Given the description of an element on the screen output the (x, y) to click on. 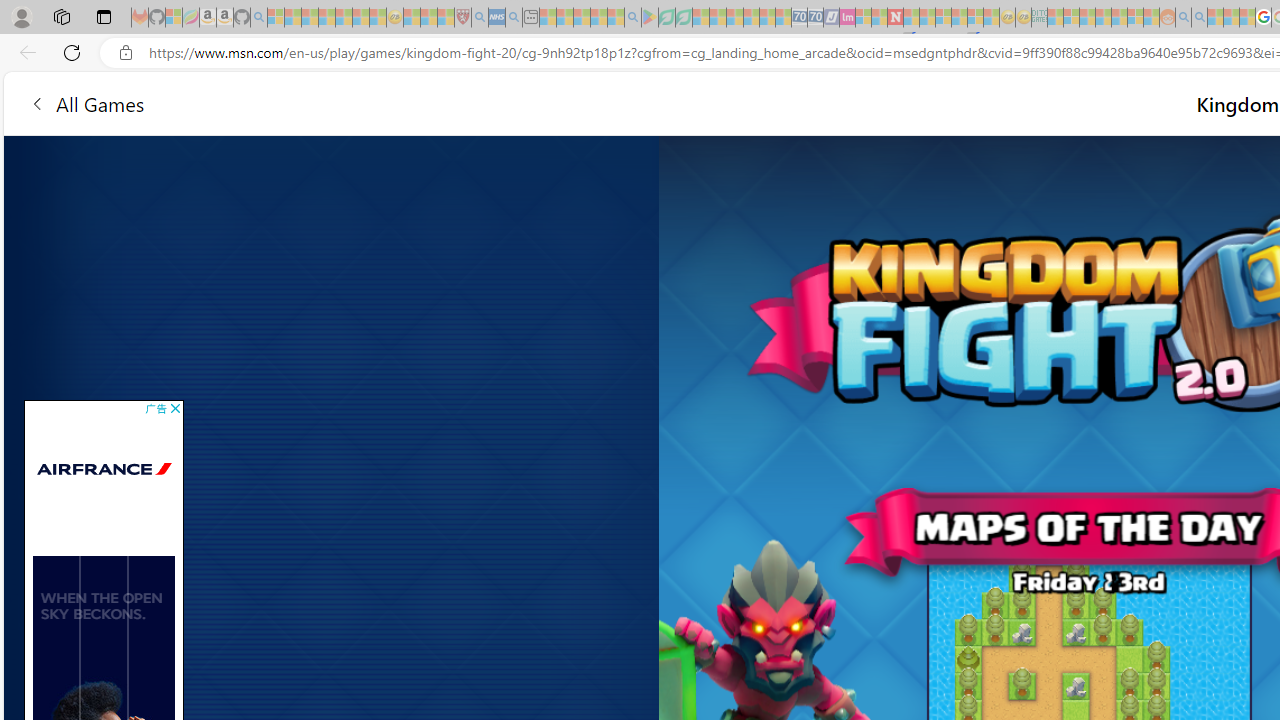
Jobs - lastminute.com Investor Portal - Sleeping (847, 17)
MSNBC - MSN - Sleeping (1055, 17)
14 Common Myths Debunked By Scientific Facts - Sleeping (927, 17)
DITOGAMES AG Imprint - Sleeping (1039, 17)
